Given the description of an element on the screen output the (x, y) to click on. 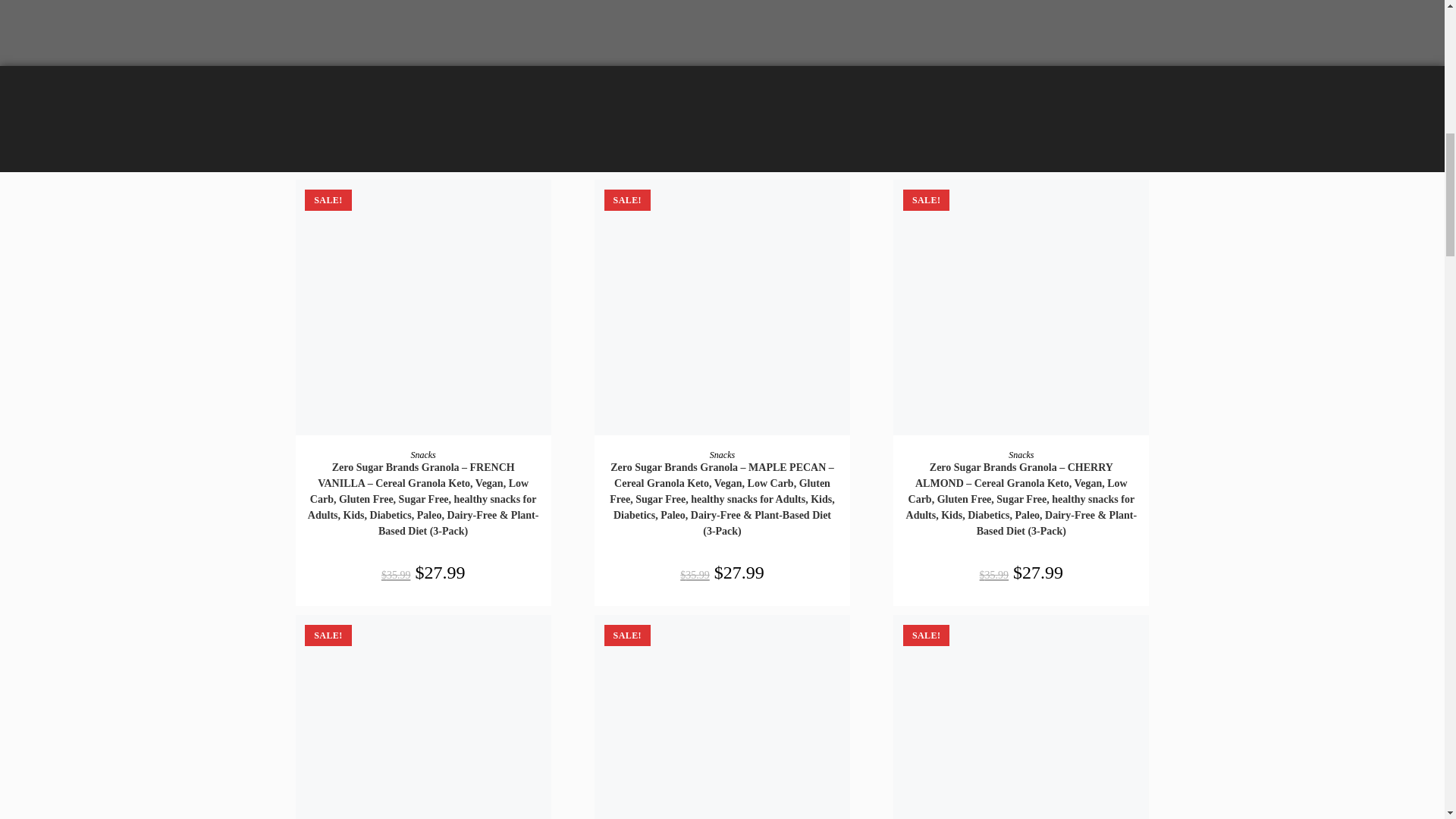
Snacks (722, 454)
Snacks (1021, 454)
Snacks (422, 454)
